Given the description of an element on the screen output the (x, y) to click on. 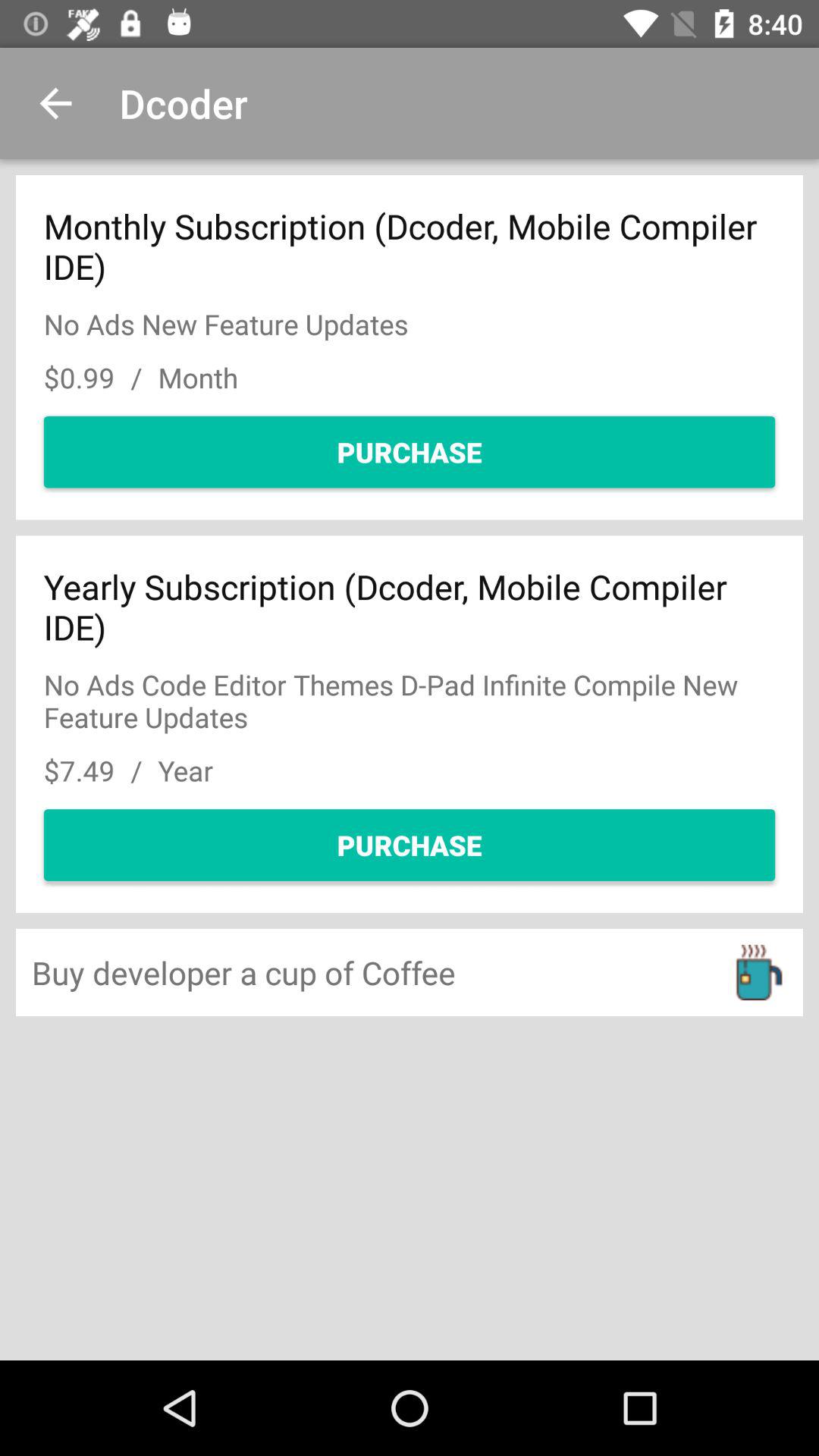
turn on icon above monthly subscription dcoder (55, 103)
